Given the description of an element on the screen output the (x, y) to click on. 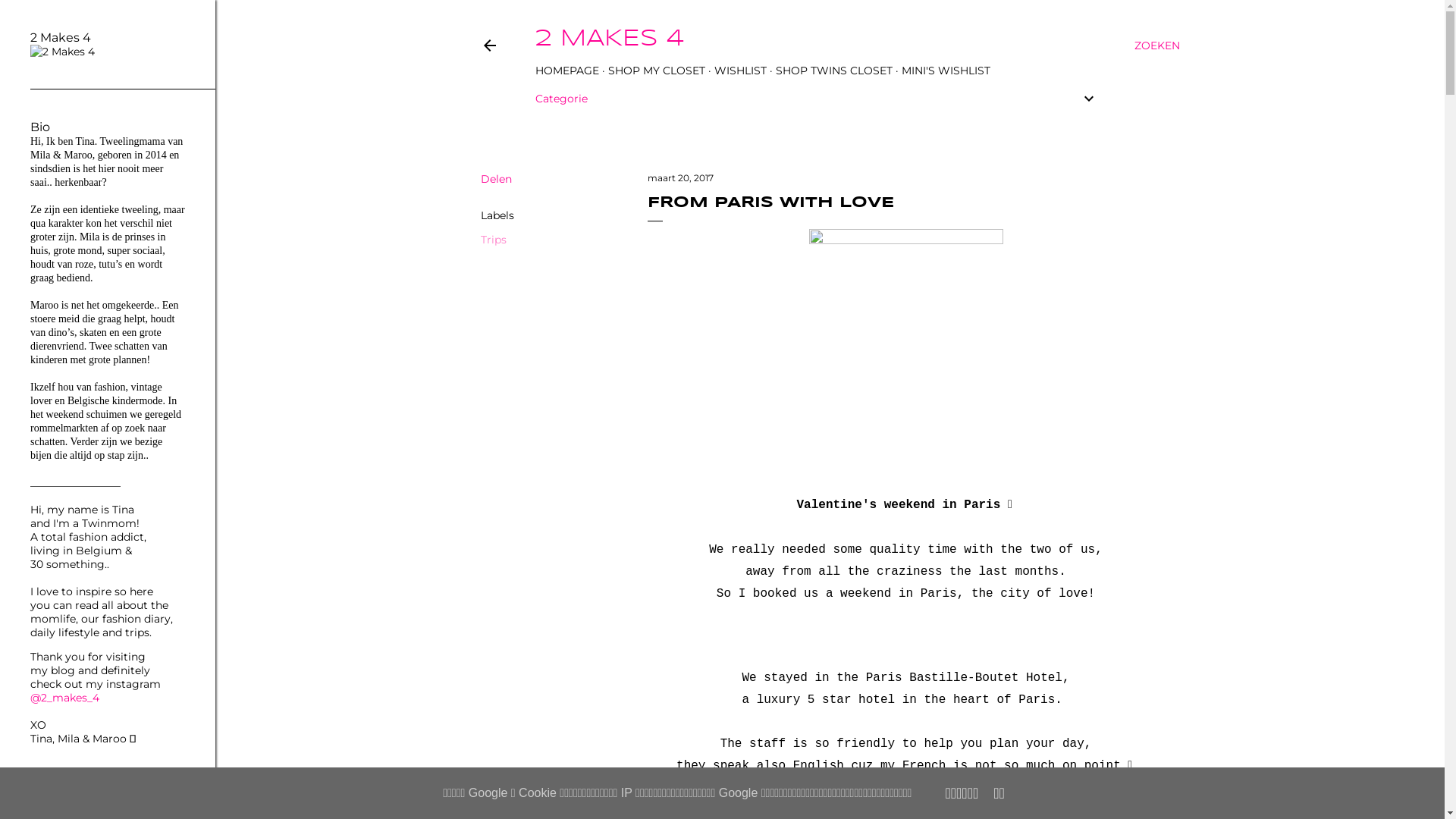
ZOEKEN Element type: text (1156, 45)
SHOP MY CLOSET Element type: text (656, 70)
Trips Element type: text (493, 239)
maart 20, 2017 Element type: text (680, 177)
2 MAKES 4 Element type: text (609, 39)
SHOP TWINS CLOSET Element type: text (833, 70)
MINI'S WISHLIST Element type: text (944, 70)
WISHLIST Element type: text (740, 70)
HOMEPAGE Element type: text (567, 70)
Delen Element type: text (495, 178)
@2_makes_4 Element type: text (64, 697)
